Given the description of an element on the screen output the (x, y) to click on. 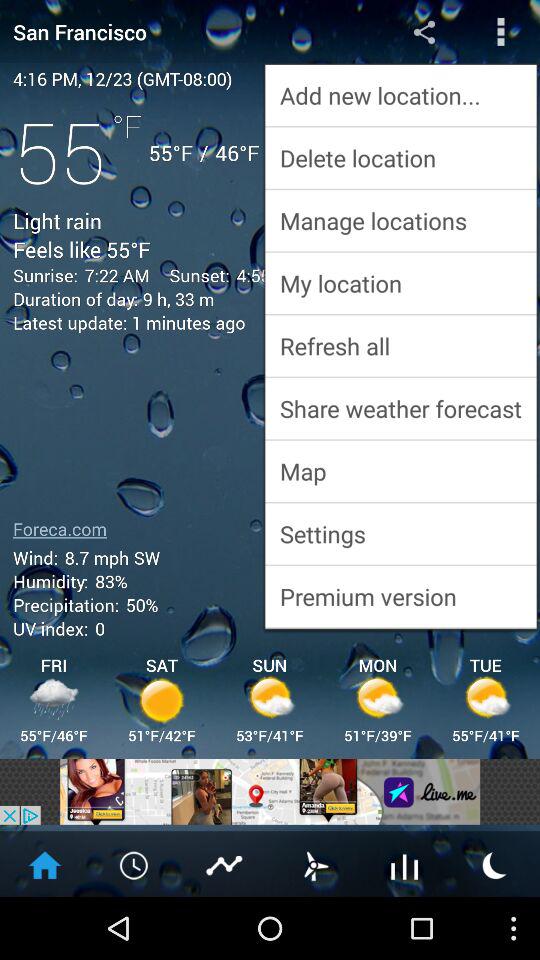
select the premium version app (400, 595)
